Given the description of an element on the screen output the (x, y) to click on. 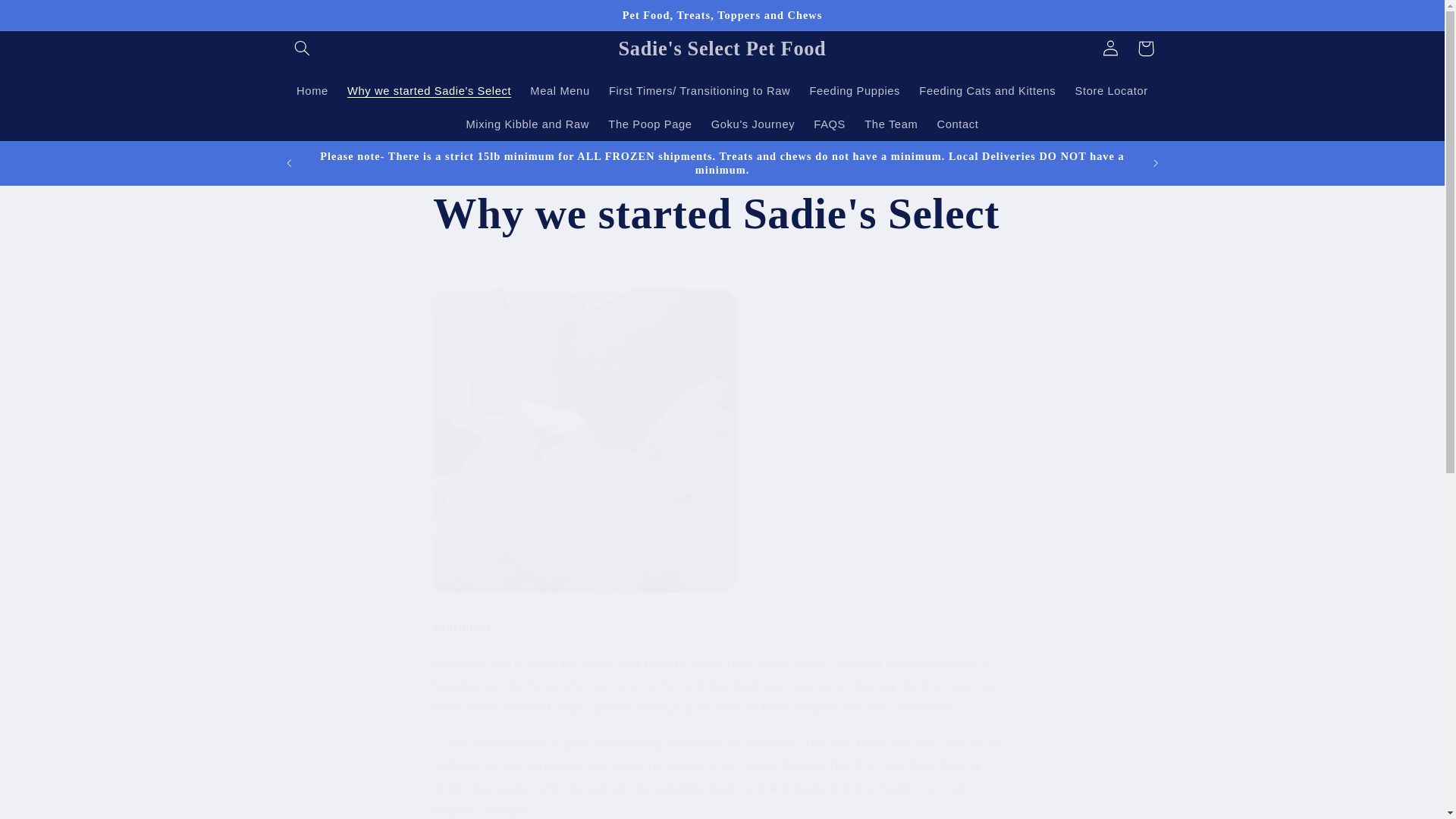
Mixing Kibble and Raw (527, 123)
Why we started Sadie's Select (721, 213)
Skip to content (48, 18)
Home (311, 90)
FAQS (830, 123)
The Poop Page (649, 123)
Meal Menu (560, 90)
Feeding Puppies (854, 90)
Feeding Cats and Kittens (987, 90)
